Given the description of an element on the screen output the (x, y) to click on. 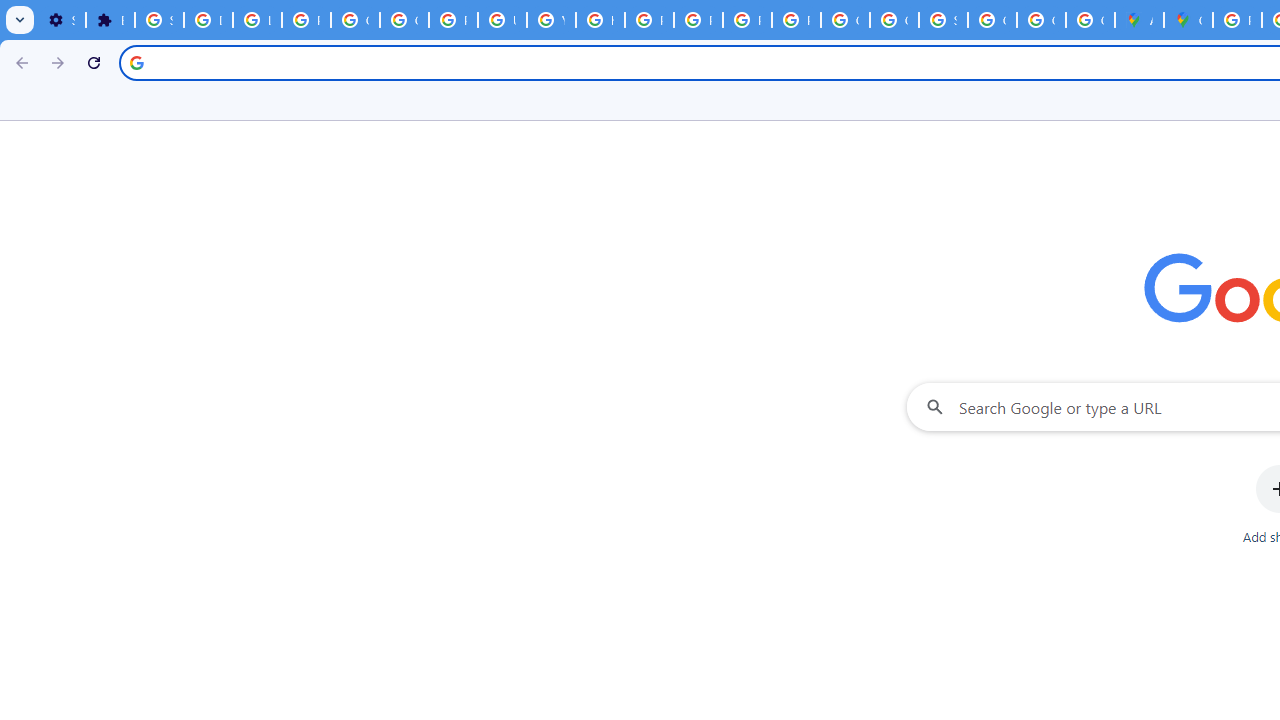
https://scholar.google.com/ (600, 20)
Sign in - Google Accounts (943, 20)
Privacy Help Center - Policies Help (649, 20)
Sign in - Google Accounts (159, 20)
Settings - On startup (61, 20)
